Given the description of an element on the screen output the (x, y) to click on. 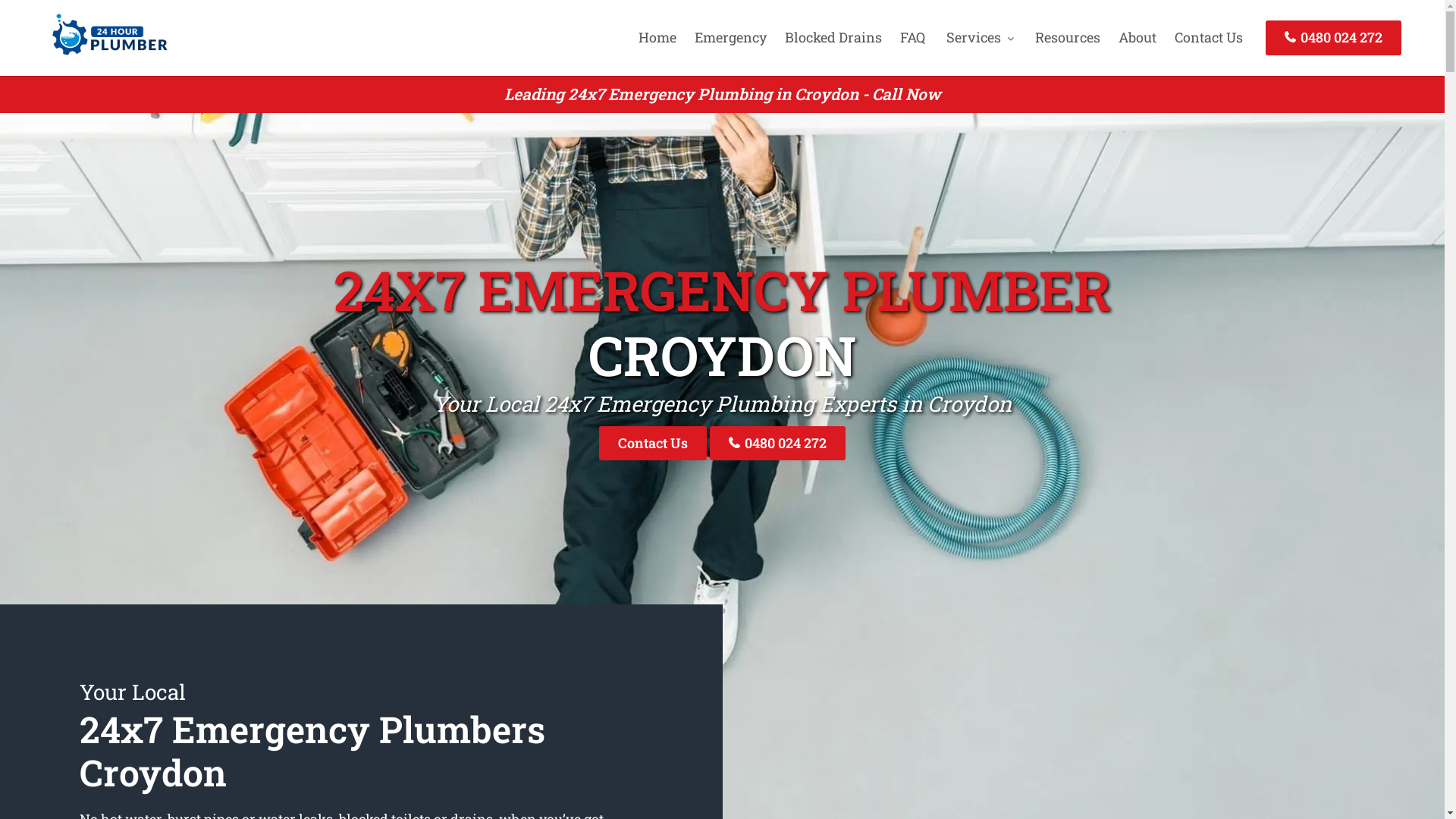
Contact Us Element type: text (652, 443)
Resources Element type: text (1067, 37)
Home Element type: text (657, 37)
0480 024 272 Element type: text (777, 443)
Services Element type: text (979, 37)
Blocked Drains Element type: text (833, 37)
About Element type: text (1137, 37)
Emergency Element type: text (730, 37)
Contact Us Element type: text (1208, 37)
0480 024 272 Element type: text (1333, 37)
FAQ Element type: text (912, 37)
24 Hour Plumber Element type: hover (105, 56)
